Given the description of an element on the screen output the (x, y) to click on. 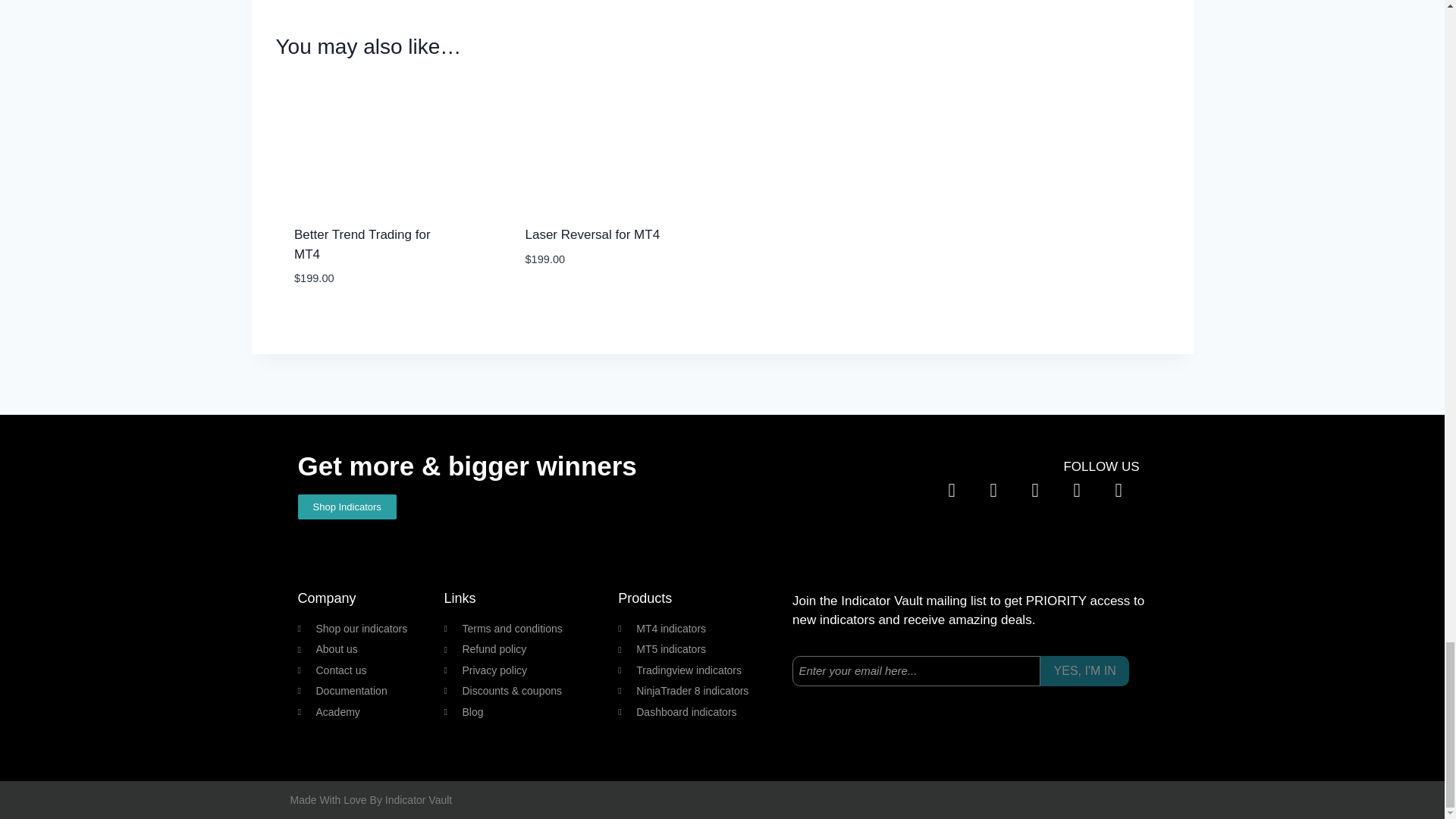
Better Trend Trading for MT4 (362, 244)
